Given the description of an element on the screen output the (x, y) to click on. 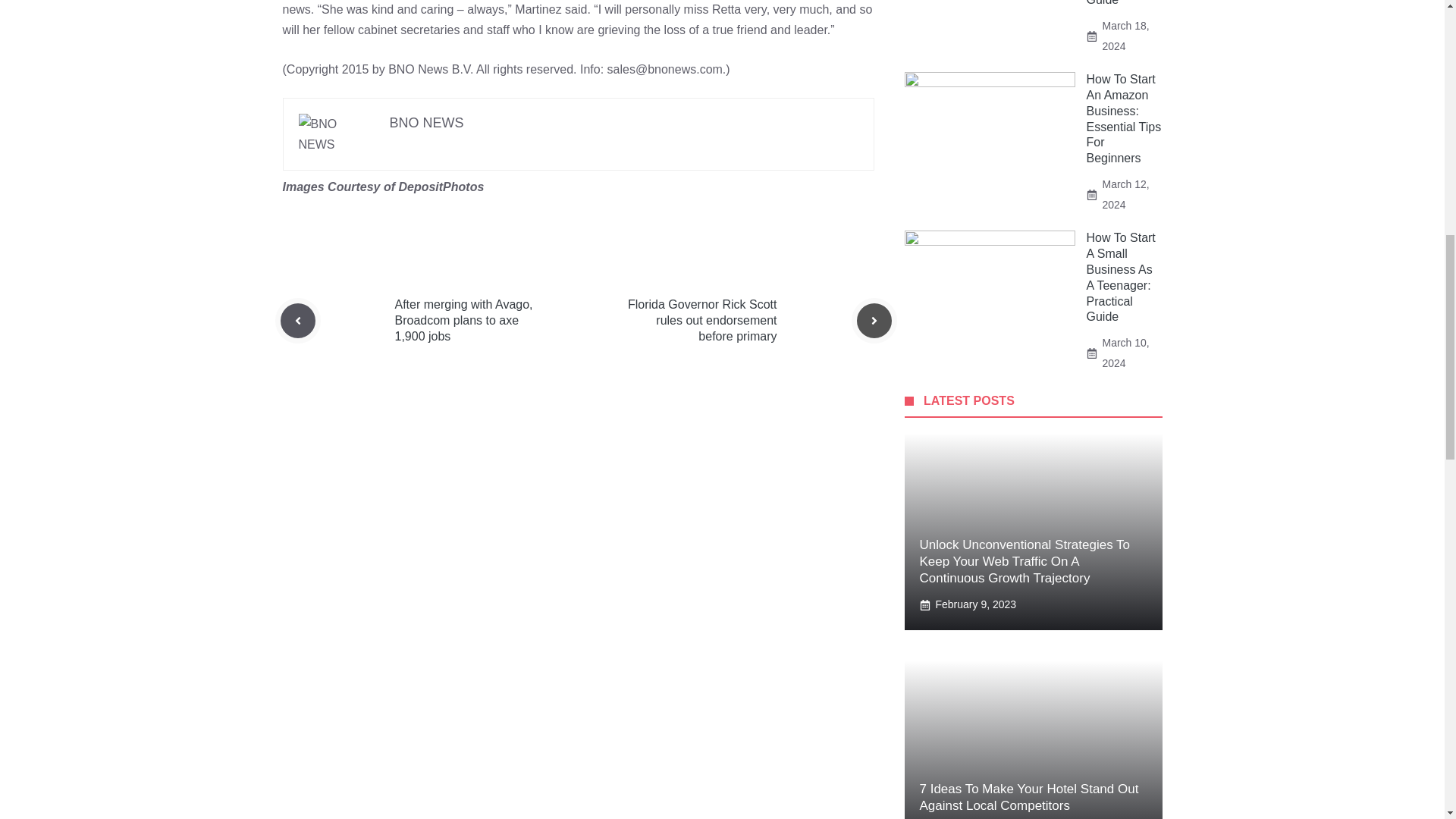
After merging with Avago, Broadcom plans to axe 1,900 jobs (463, 320)
How to Start a Dance Studio: Your Step-by-Step Success Guide (1121, 2)
Scroll back to top (1406, 720)
DepositPhotos (440, 186)
BNO NEWS (427, 122)
